Given the description of an element on the screen output the (x, y) to click on. 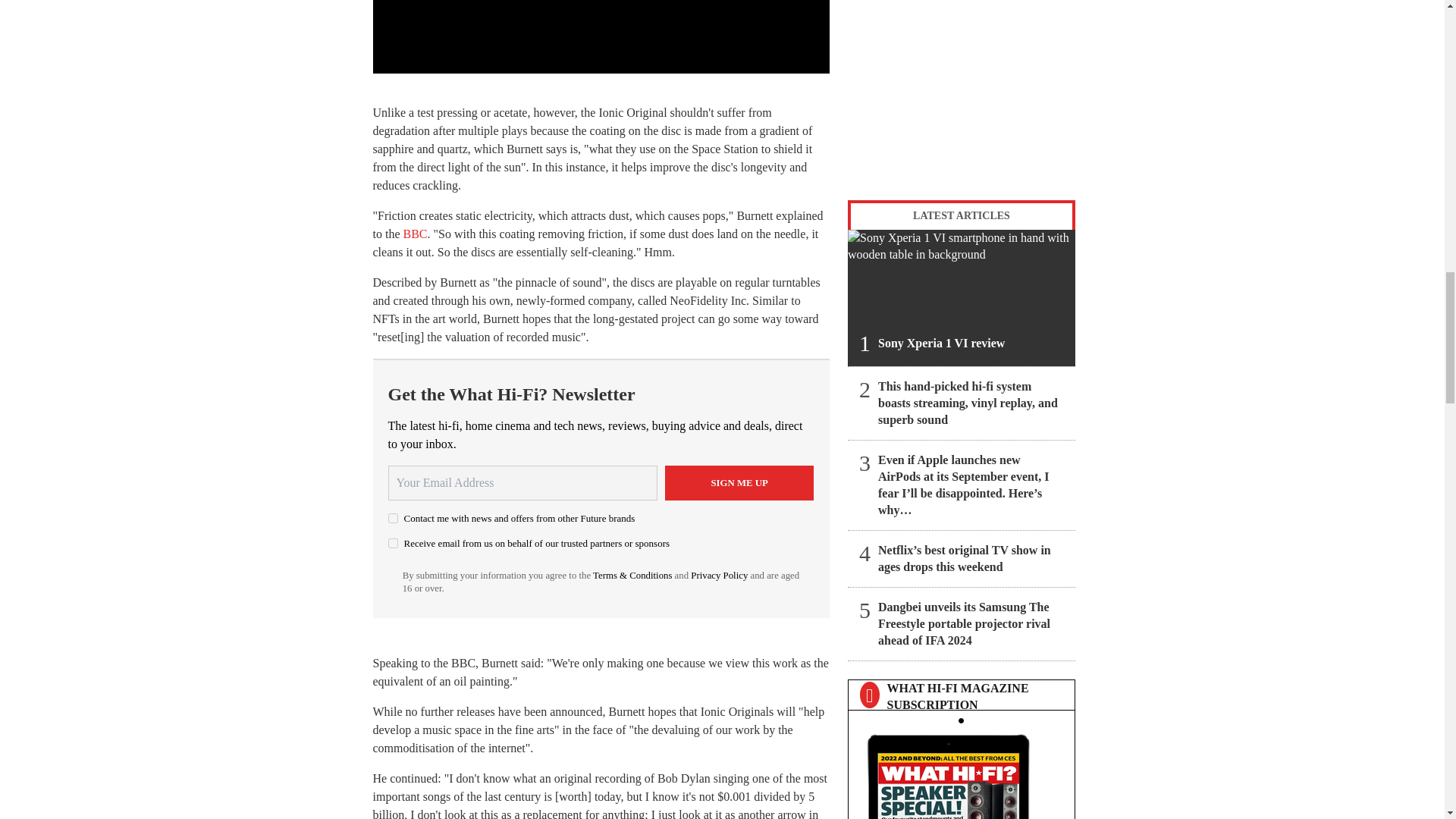
Sony Xperia 1 VI review (961, 298)
on (392, 518)
What Hi-Fi Magazine... (960, 772)
Sign me up (739, 483)
on (392, 542)
